Given the description of an element on the screen output the (x, y) to click on. 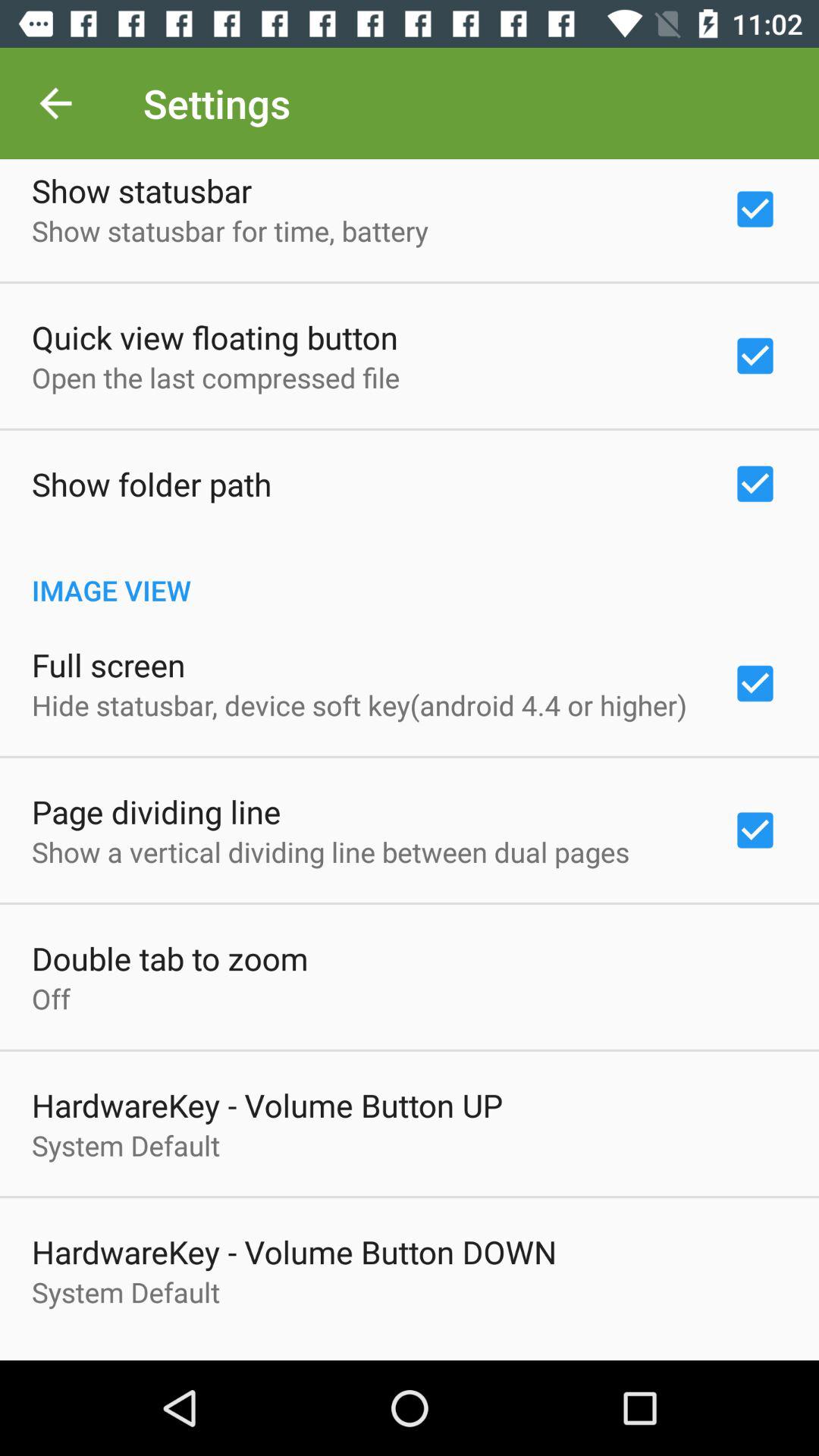
tap the show a vertical (330, 851)
